Given the description of an element on the screen output the (x, y) to click on. 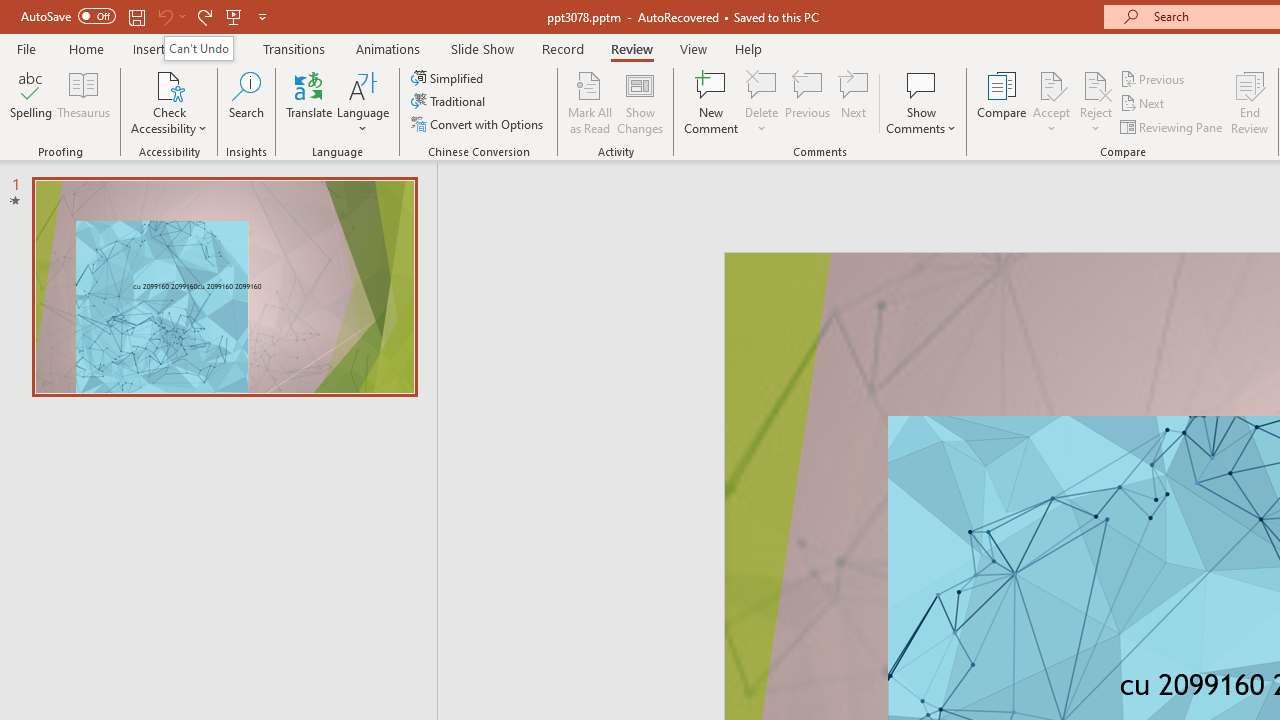
Reject Change (1096, 84)
Compare (1002, 102)
Mark All as Read (589, 102)
Convert with Options... (479, 124)
